Given the description of an element on the screen output the (x, y) to click on. 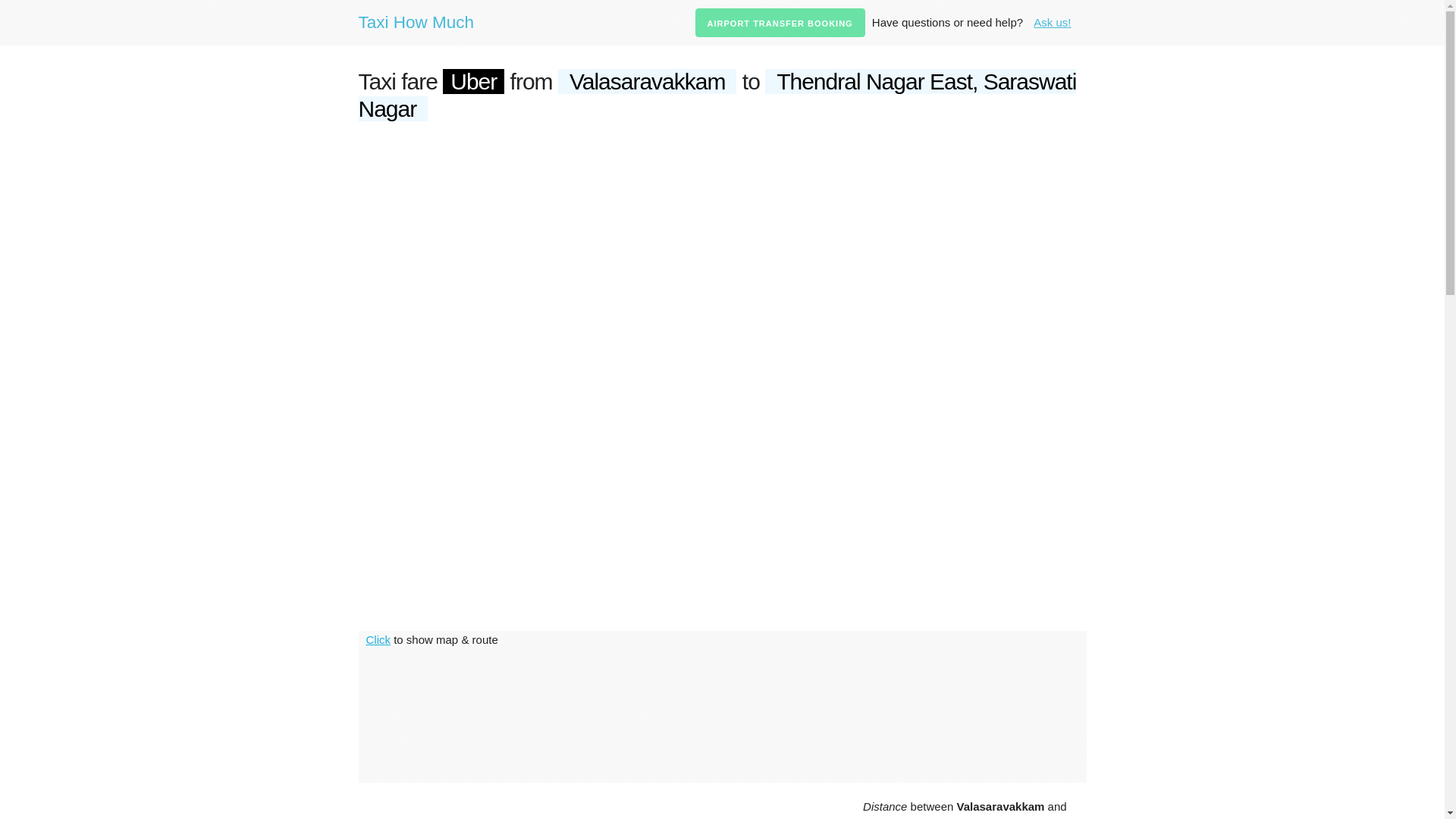
Airport Transfer Booking (779, 22)
Ask us! (1052, 22)
Click (377, 639)
Advertisement (596, 810)
Taxi How Much (423, 22)
Airport Transfer Booking (779, 22)
